Given the description of an element on the screen output the (x, y) to click on. 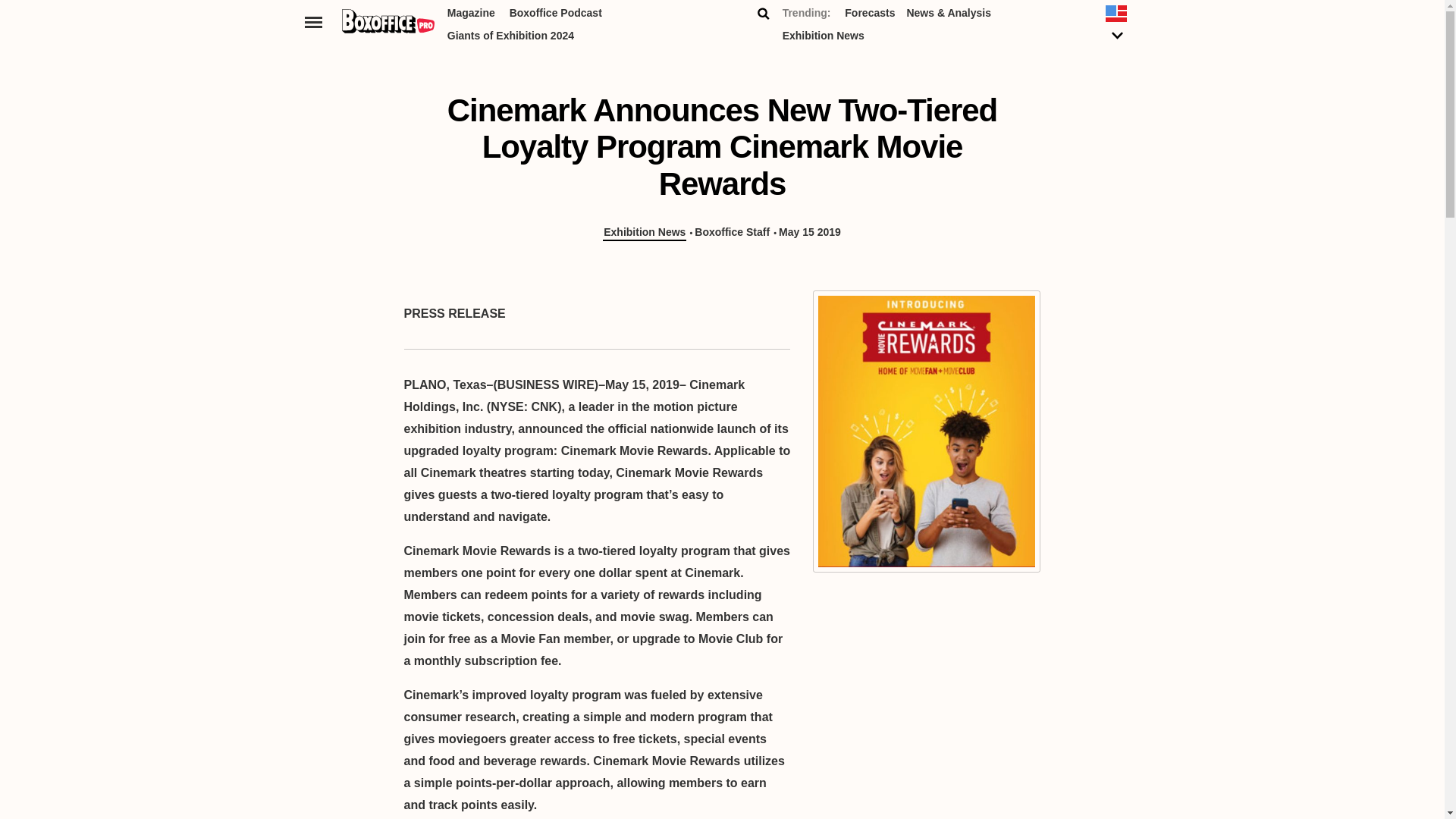
Menu (314, 22)
Exhibition News (823, 37)
Boxoffice Podcast (555, 15)
Magazine (470, 15)
US Edition (1117, 26)
Forecasts (869, 15)
Giants of Exhibition 2024 (509, 37)
Exhibition News (643, 232)
